Given the description of an element on the screen output the (x, y) to click on. 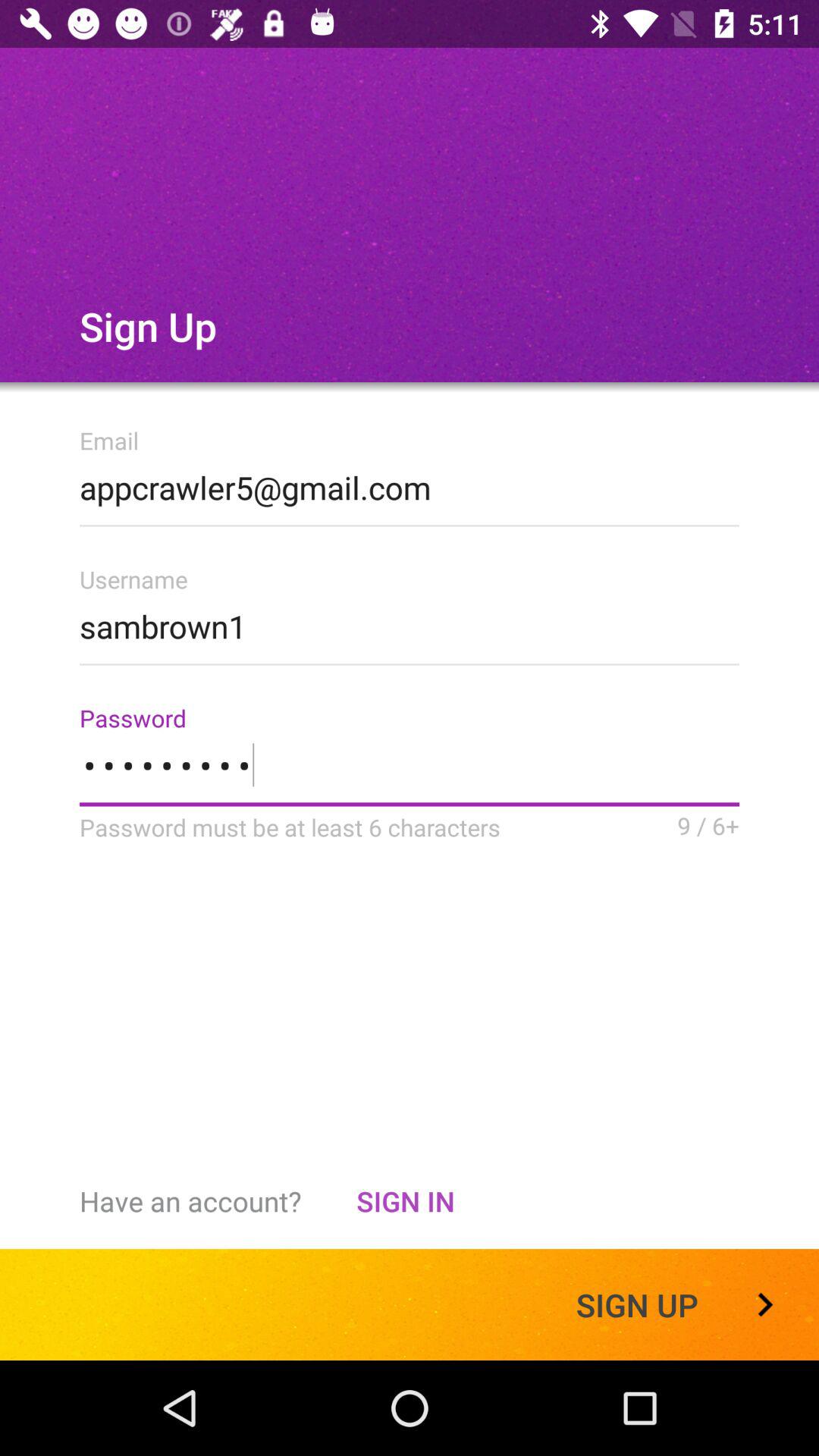
scroll until the sambrown1 icon (409, 621)
